Given the description of an element on the screen output the (x, y) to click on. 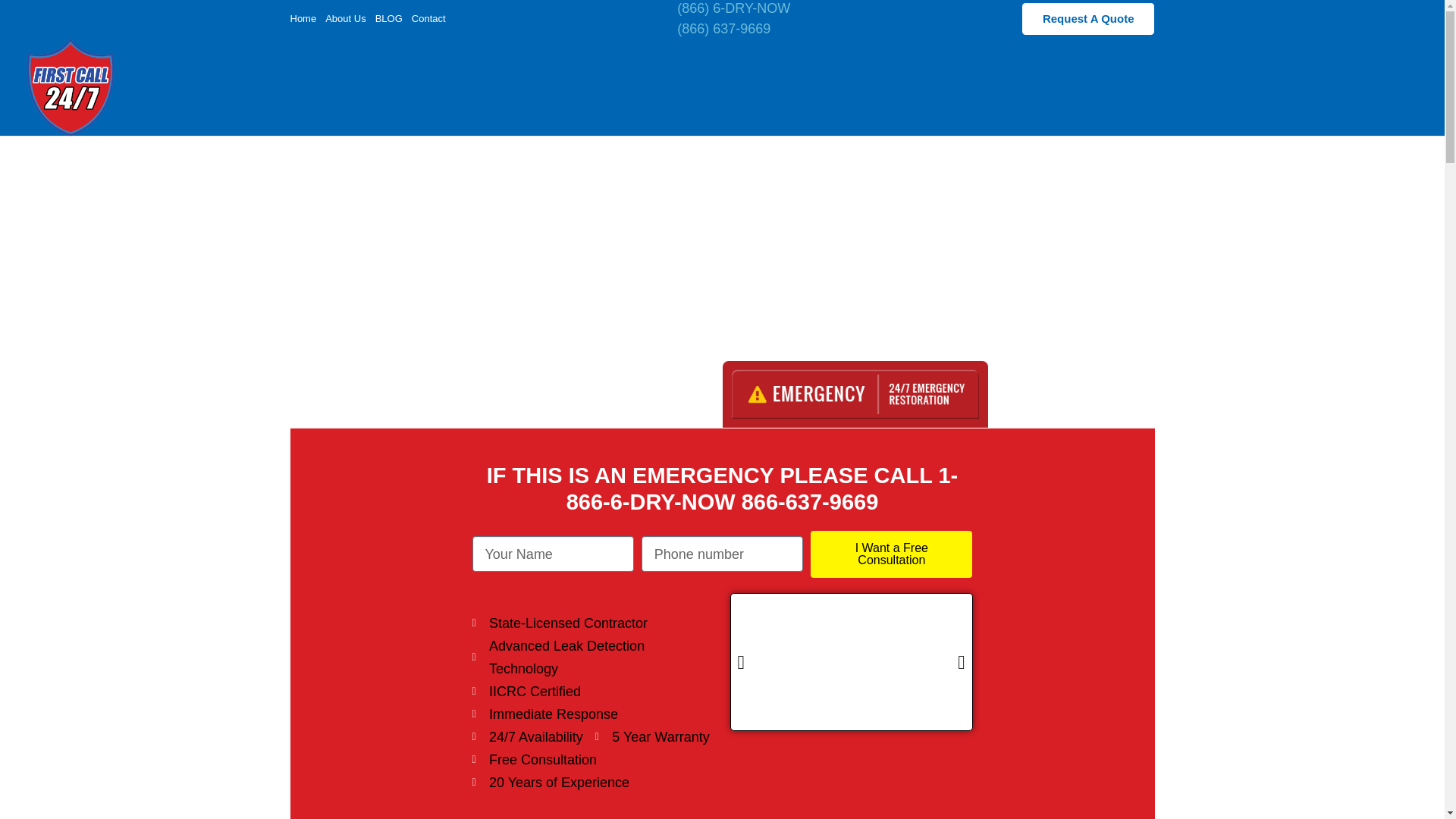
Home (302, 18)
I Want a Free Consultation (891, 554)
Request A Quote (1088, 19)
Contact (428, 18)
BLOG (389, 18)
About Us (344, 18)
